Given the description of an element on the screen output the (x, y) to click on. 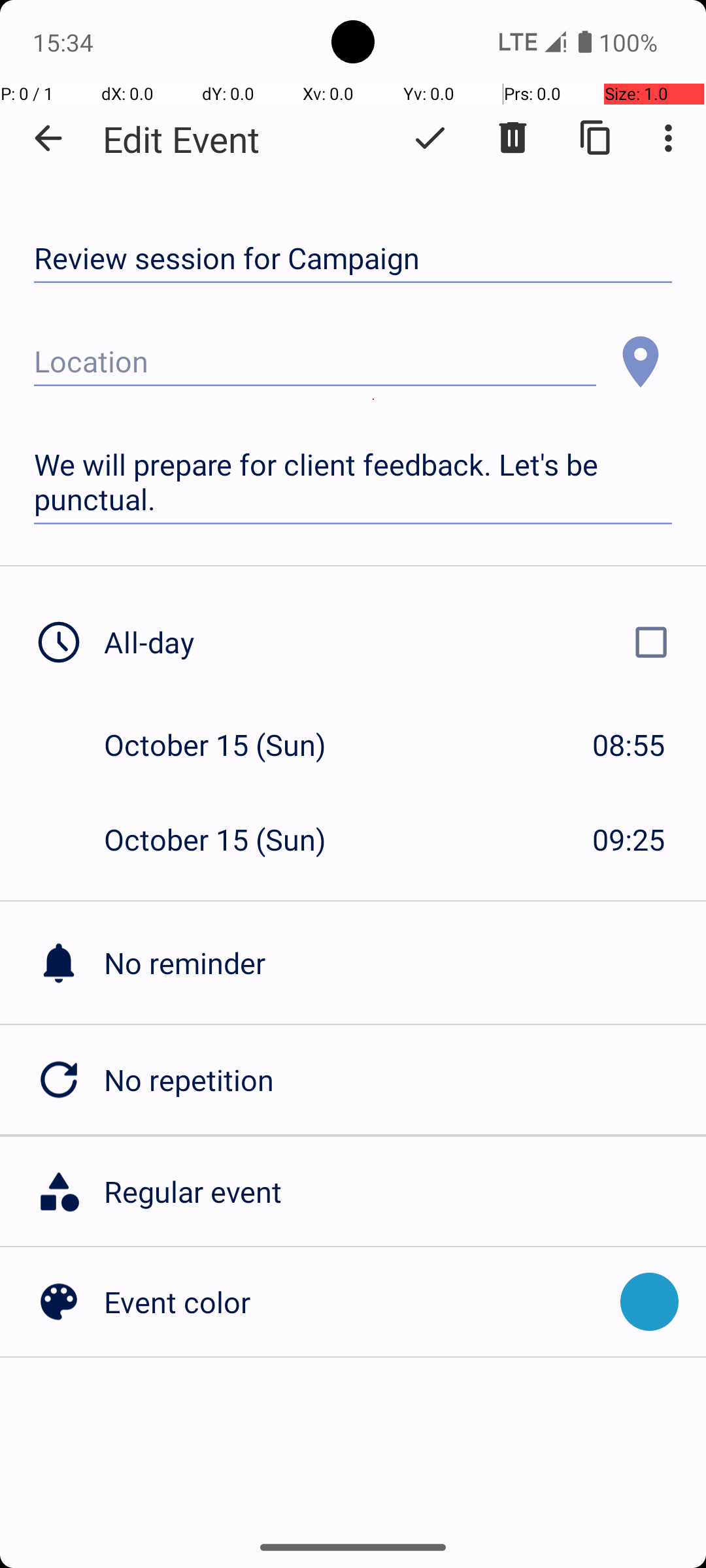
We will prepare for client feedback. Let's be punctual. Element type: android.widget.EditText (352, 482)
08:55 Element type: android.widget.TextView (628, 744)
09:25 Element type: android.widget.TextView (628, 838)
